Given the description of an element on the screen output the (x, y) to click on. 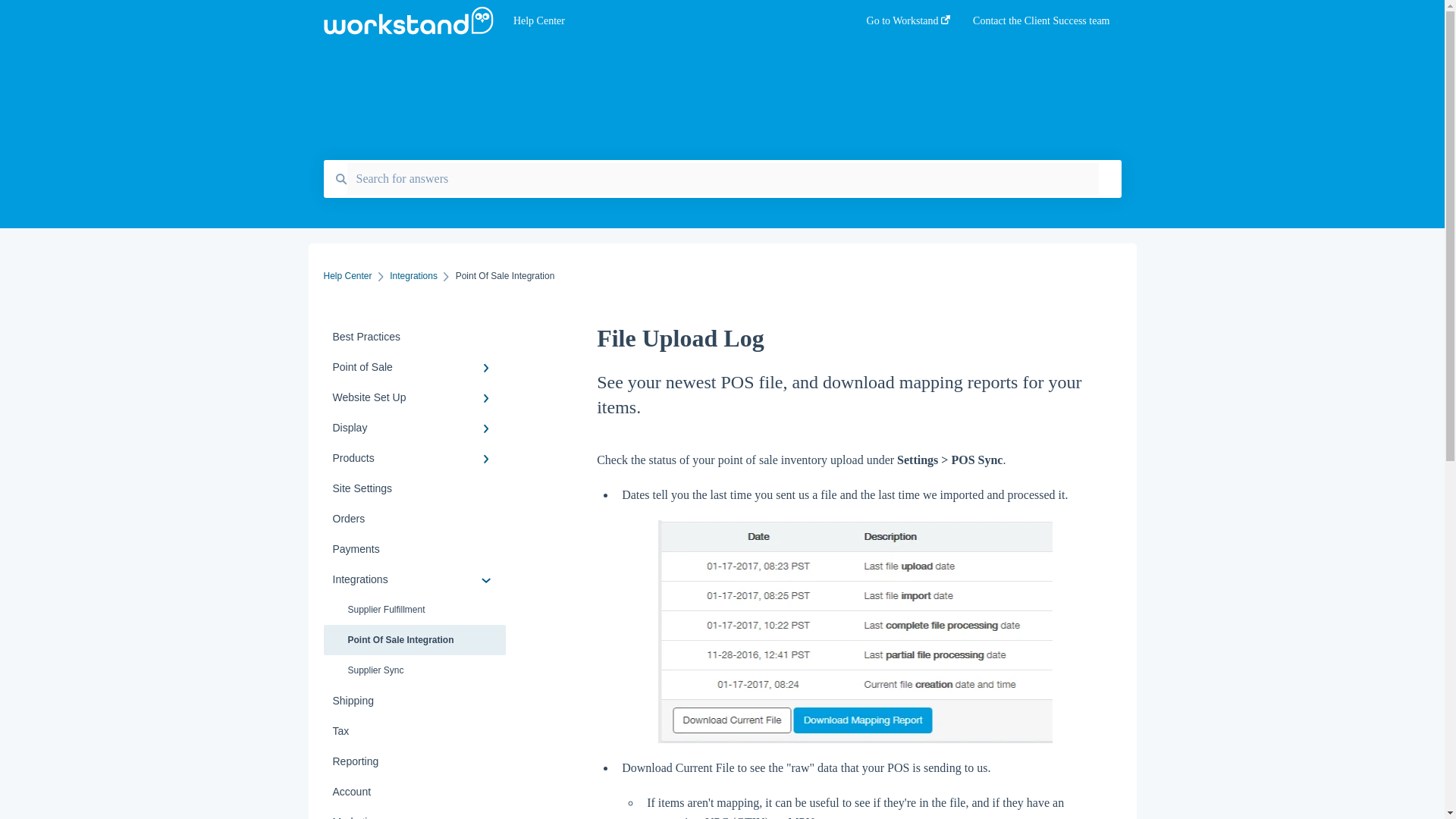
Help Center (667, 21)
Go to Workstand (908, 25)
Contact the Client Success team (1040, 25)
